Given the description of an element on the screen output the (x, y) to click on. 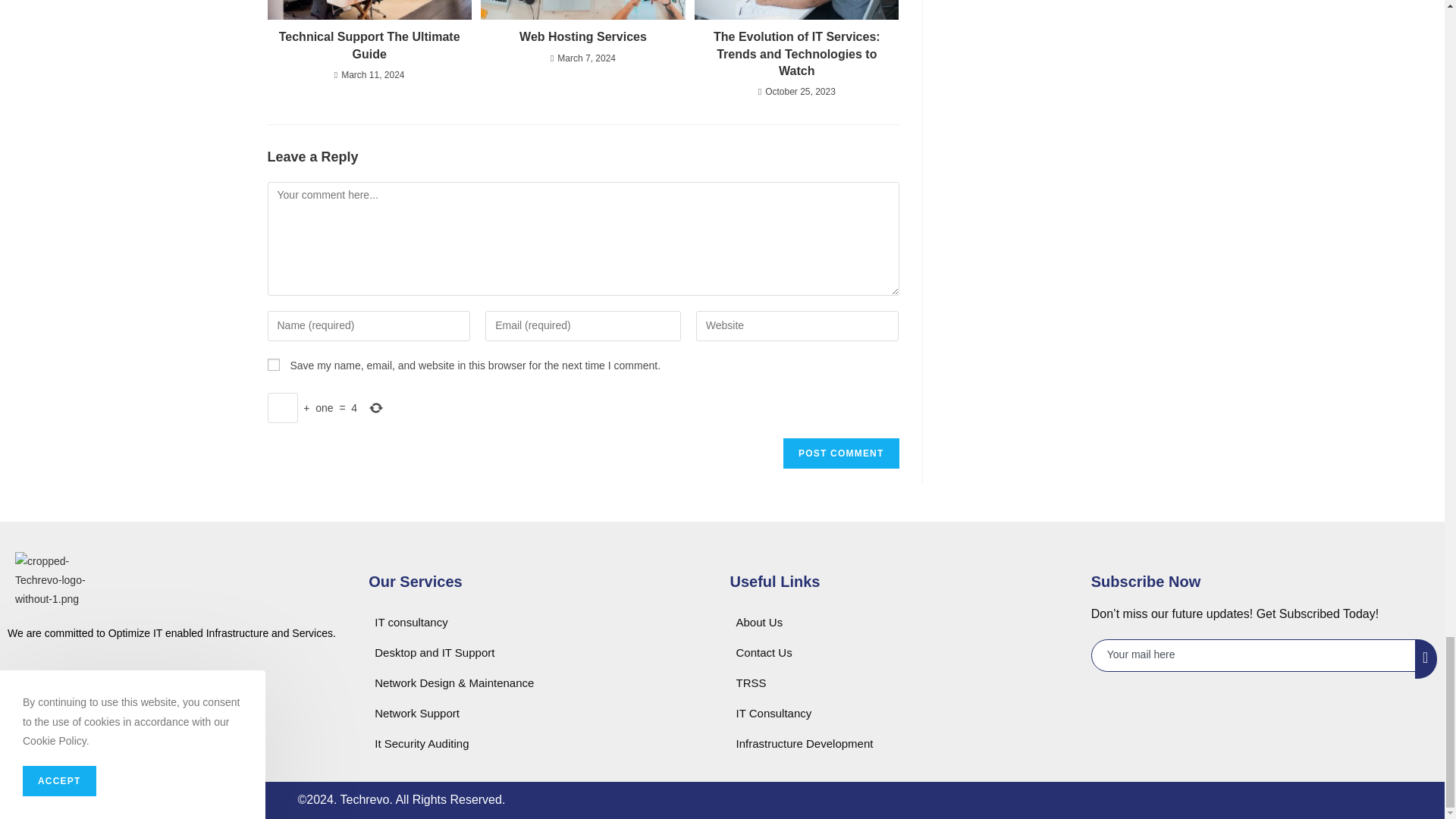
yes (272, 364)
Post Comment (840, 453)
